Given the description of an element on the screen output the (x, y) to click on. 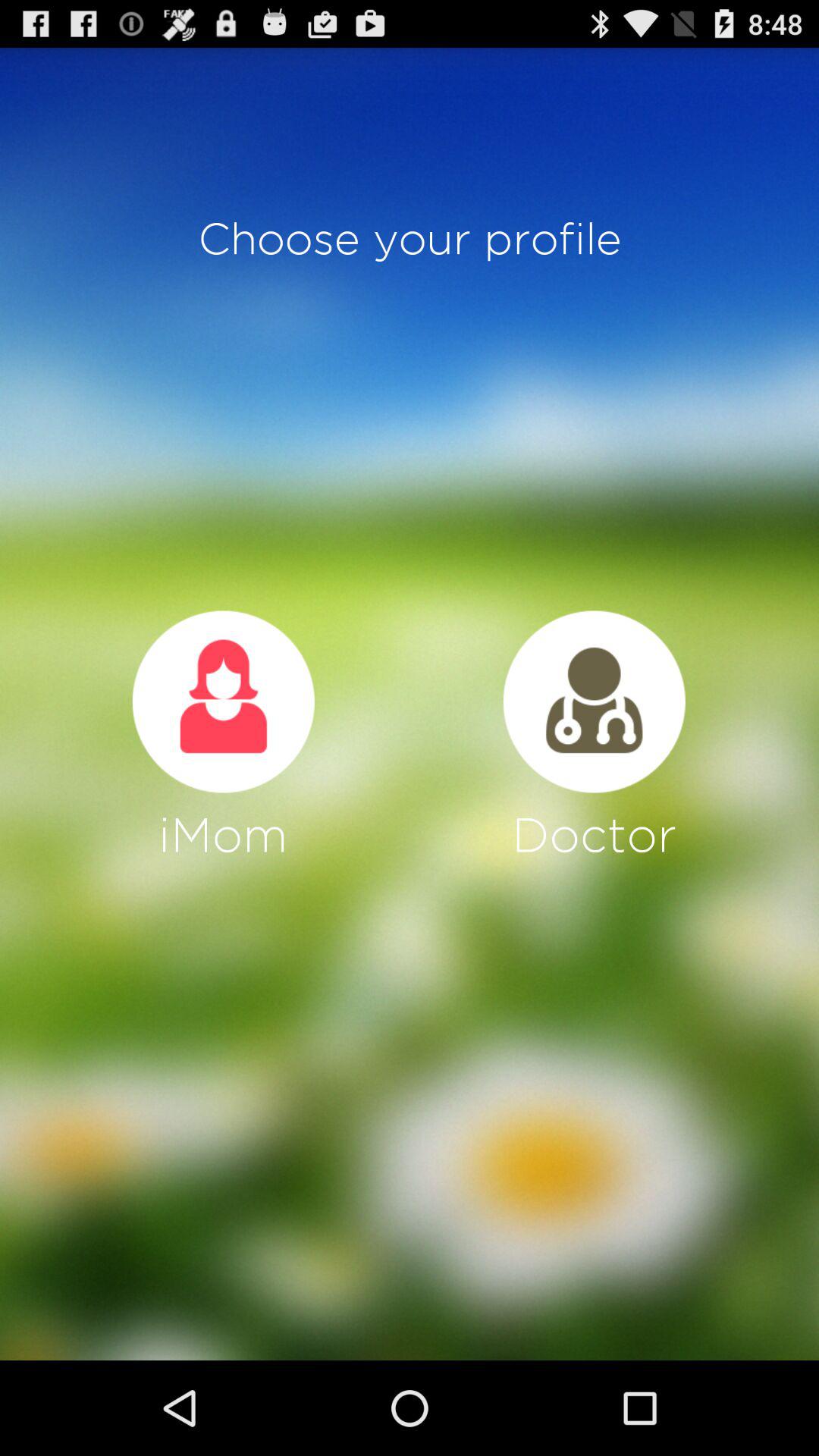
choose the doctor profile (594, 701)
